Given the description of an element on the screen output the (x, y) to click on. 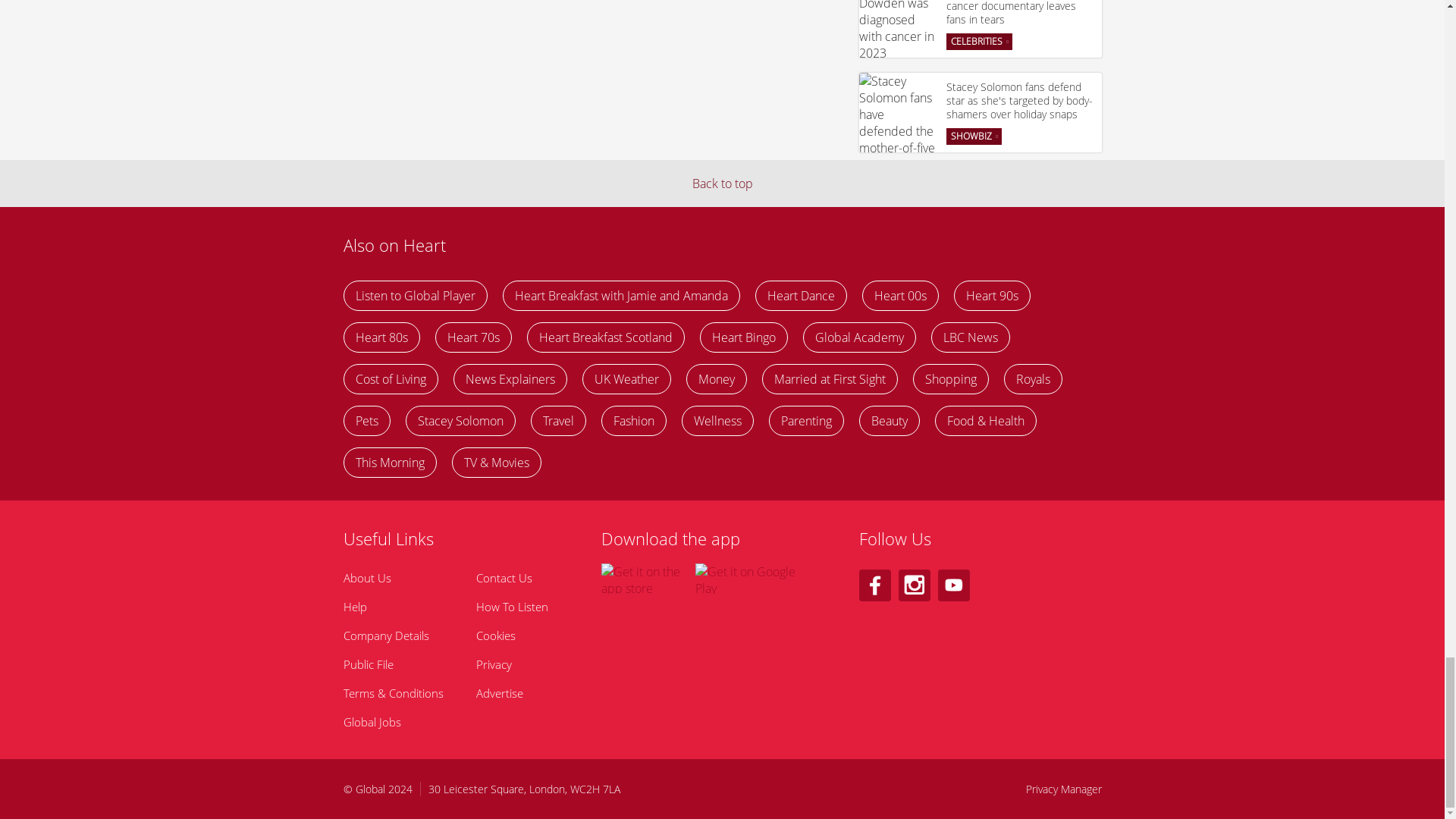
Follow Heart on Instagram (914, 585)
Follow Heart on Youtube (953, 585)
Follow Heart on Facebook (874, 585)
Back to top (721, 183)
